Given the description of an element on the screen output the (x, y) to click on. 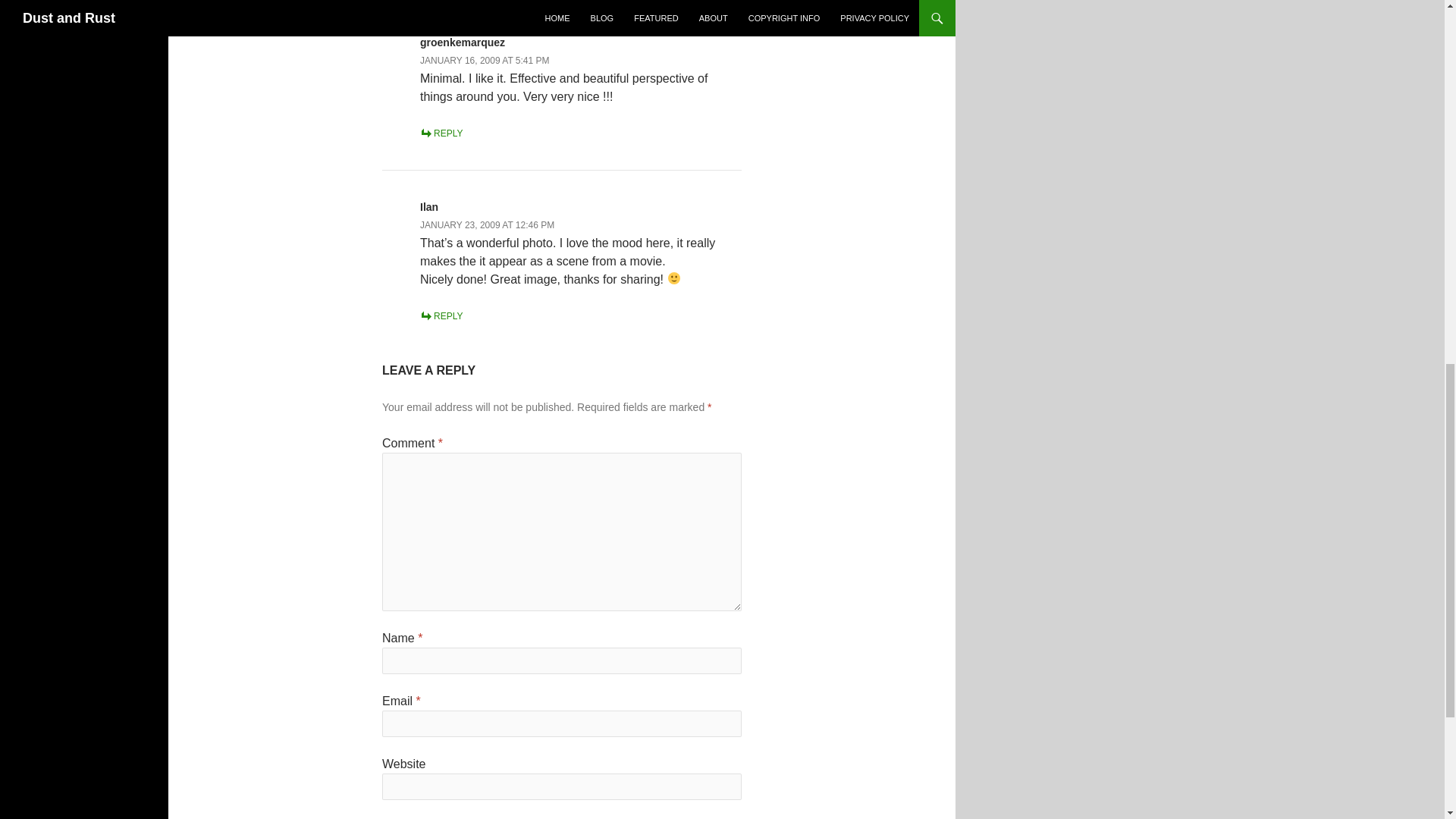
Ilan (429, 206)
JANUARY 23, 2009 AT 12:46 PM (487, 225)
groenkemarquez (462, 42)
REPLY (441, 132)
REPLY (441, 316)
JANUARY 16, 2009 AT 5:41 PM (485, 60)
